Given the description of an element on the screen output the (x, y) to click on. 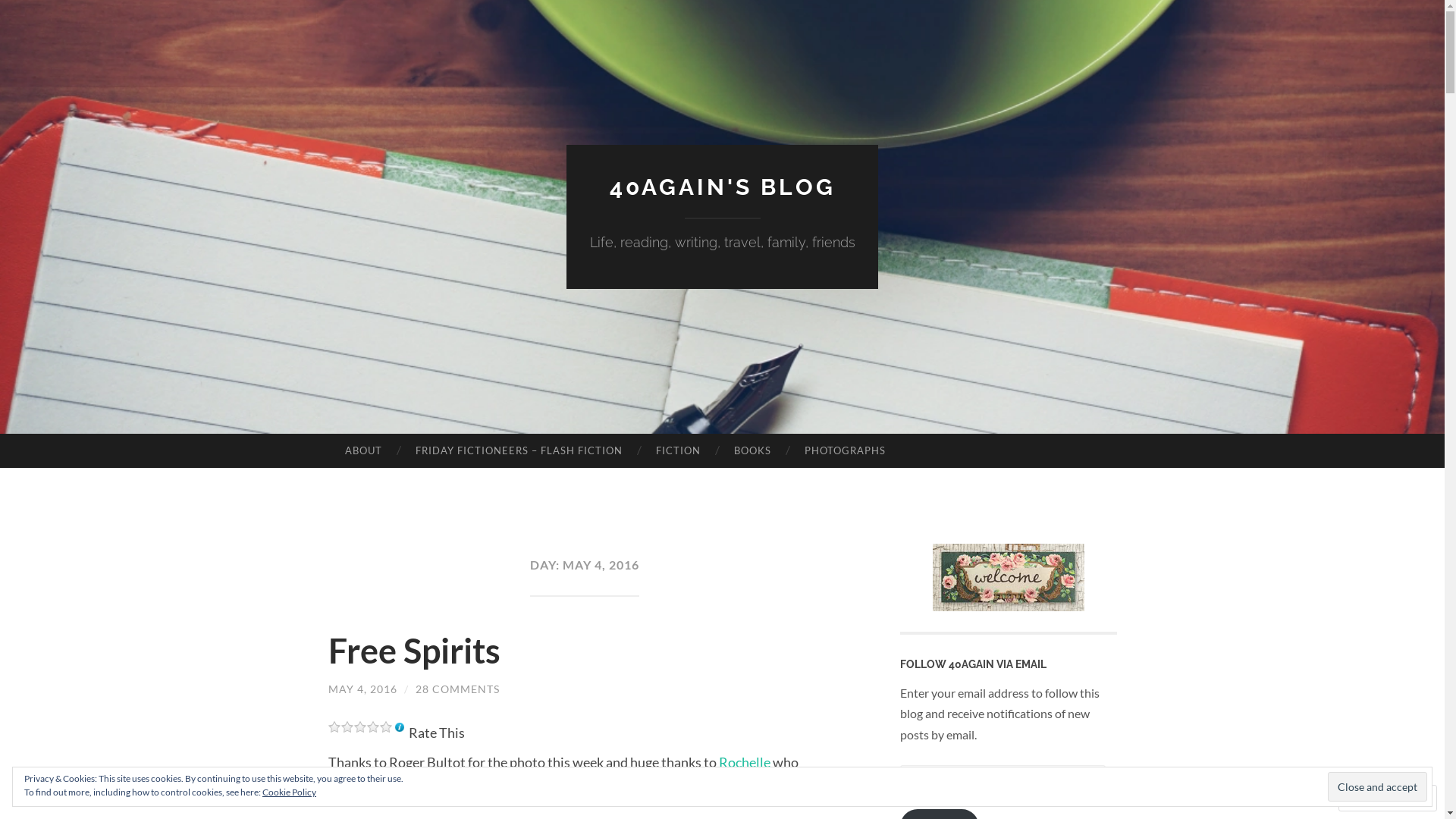
Rochelle Element type: text (745, 761)
Cookie Policy Element type: text (289, 791)
28 COMMENTS Element type: text (457, 688)
FICTION Element type: text (678, 450)
Follow Element type: text (1372, 797)
Free Spirits Element type: text (413, 650)
MAY 4, 2016 Element type: text (361, 688)
40AGAIN'S BLOG Element type: text (722, 186)
ABOUT Element type: text (362, 450)
Close and accept Element type: text (1377, 786)
PHOTOGRAPHS Element type: text (844, 450)
BOOKS Element type: text (752, 450)
